Given the description of an element on the screen output the (x, y) to click on. 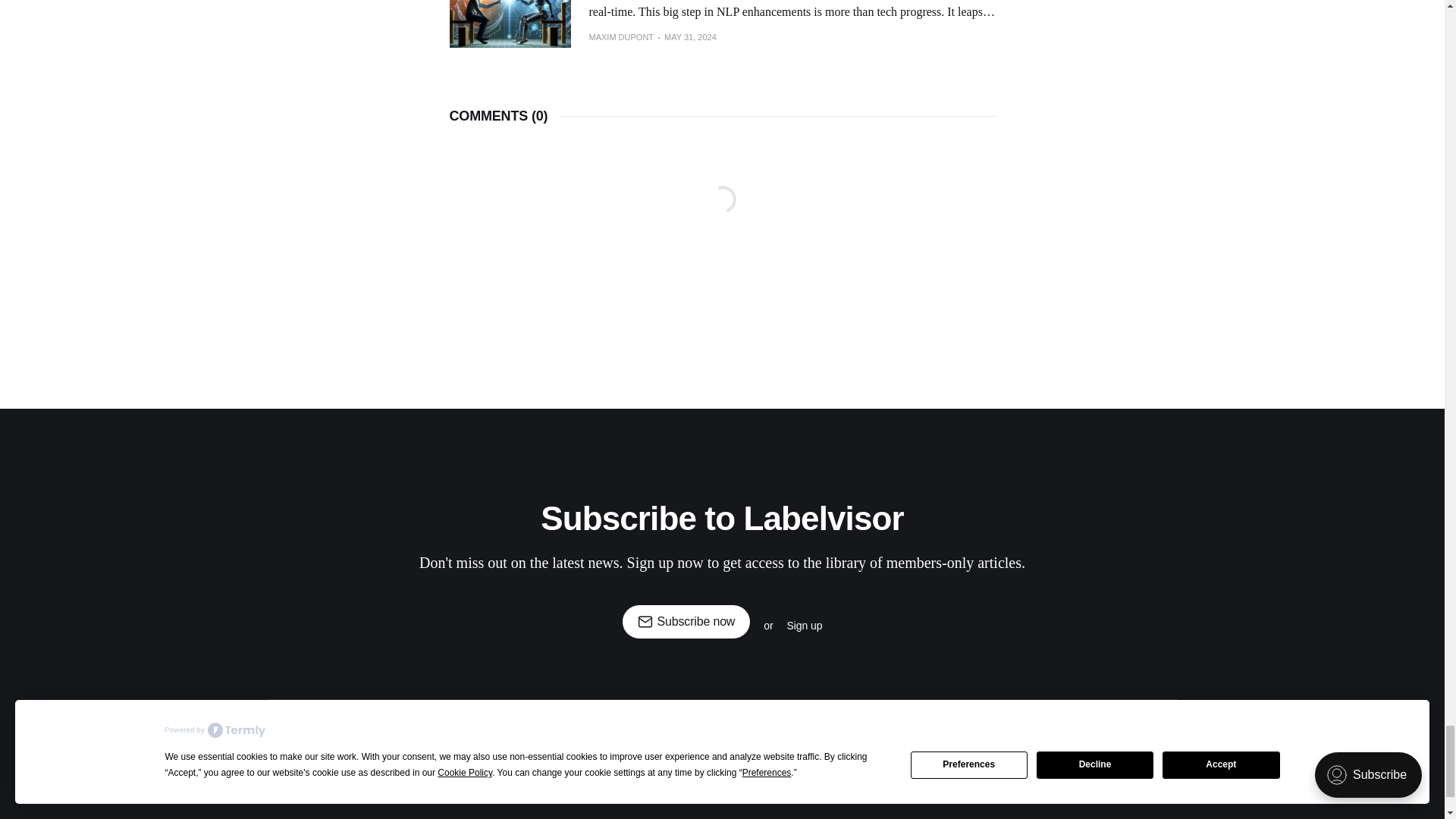
Data annotation (574, 719)
Advertise (989, 719)
comments-frame (721, 217)
Sign up (804, 625)
Datasets (721, 719)
Home (394, 719)
AI events (788, 719)
Privacy Policy (678, 754)
AI news (852, 719)
Subscribe now (687, 621)
Machine learning (472, 719)
About (1050, 719)
Software (655, 719)
